Given the description of an element on the screen output the (x, y) to click on. 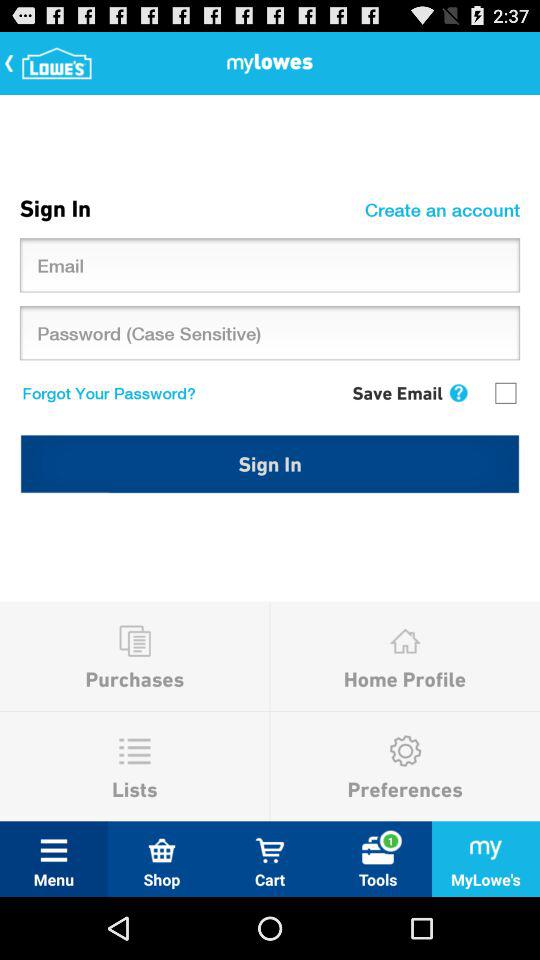
turn on the forgot your password? icon (104, 392)
